Given the description of an element on the screen output the (x, y) to click on. 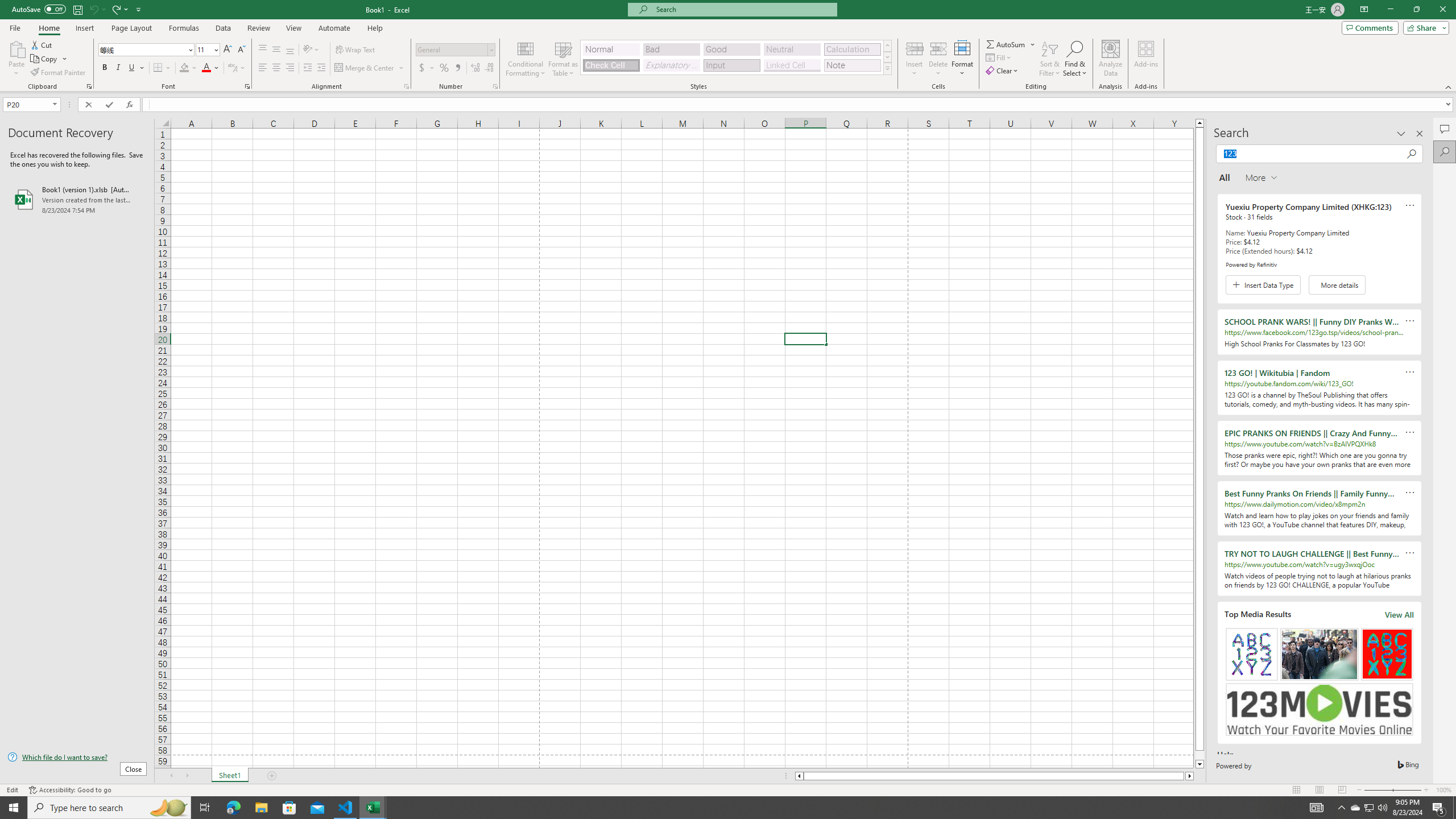
Which file do I want to save? (77, 757)
Column right (1190, 775)
Delete (938, 58)
Name Box (27, 104)
Formulas (184, 28)
Align Left (262, 67)
Undo (92, 9)
Row Down (887, 56)
Scroll Left (171, 775)
Page down (1199, 755)
Page Layout (131, 28)
Accessibility Checker Accessibility: Good to go (70, 790)
Center (276, 67)
Decrease Indent (307, 67)
AutoSave (38, 9)
